Given the description of an element on the screen output the (x, y) to click on. 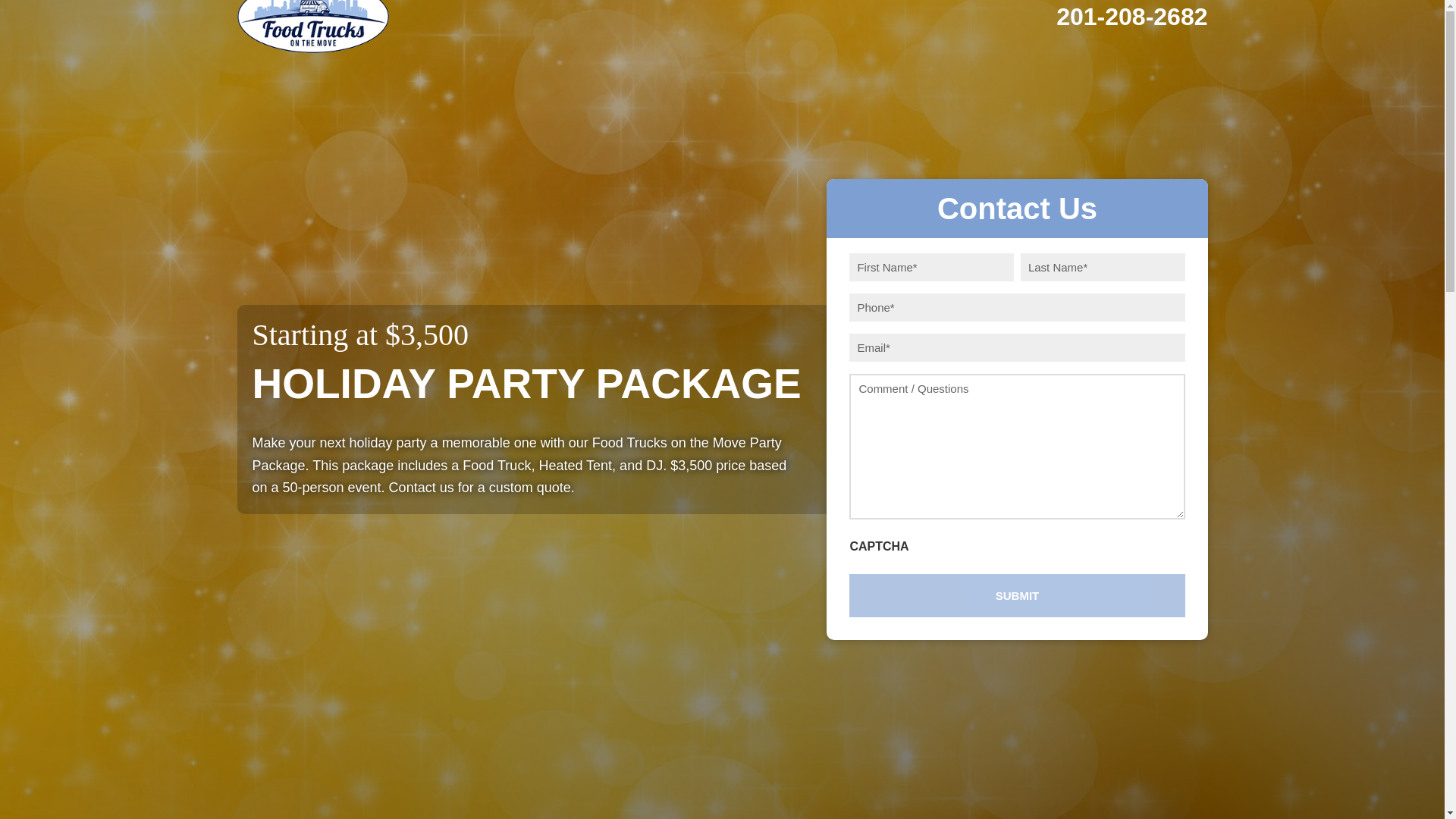
Submit (1016, 595)
201-208-2682 (1132, 16)
Submit (1016, 595)
